Given the description of an element on the screen output the (x, y) to click on. 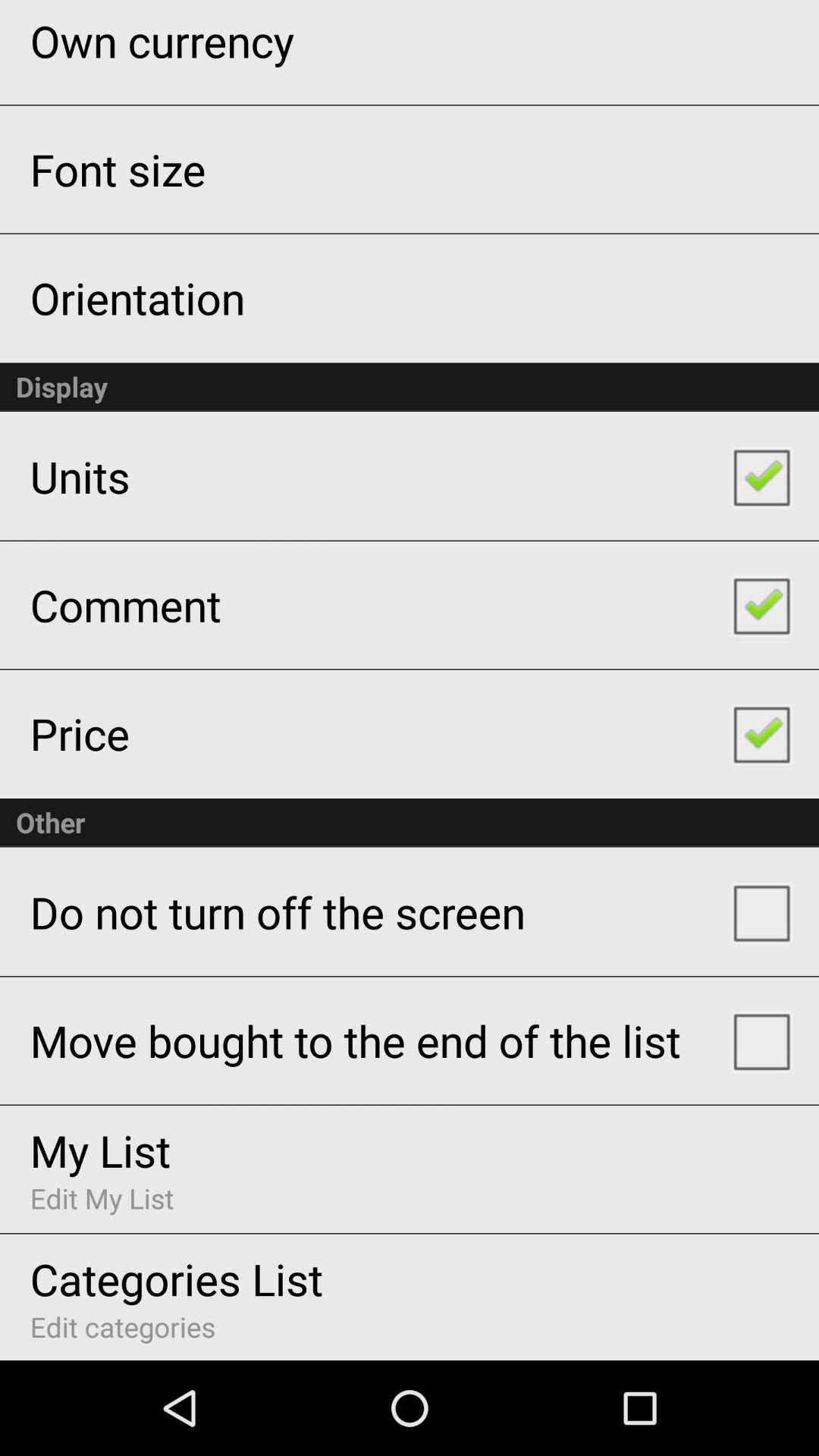
launch item above other (79, 733)
